Given the description of an element on the screen output the (x, y) to click on. 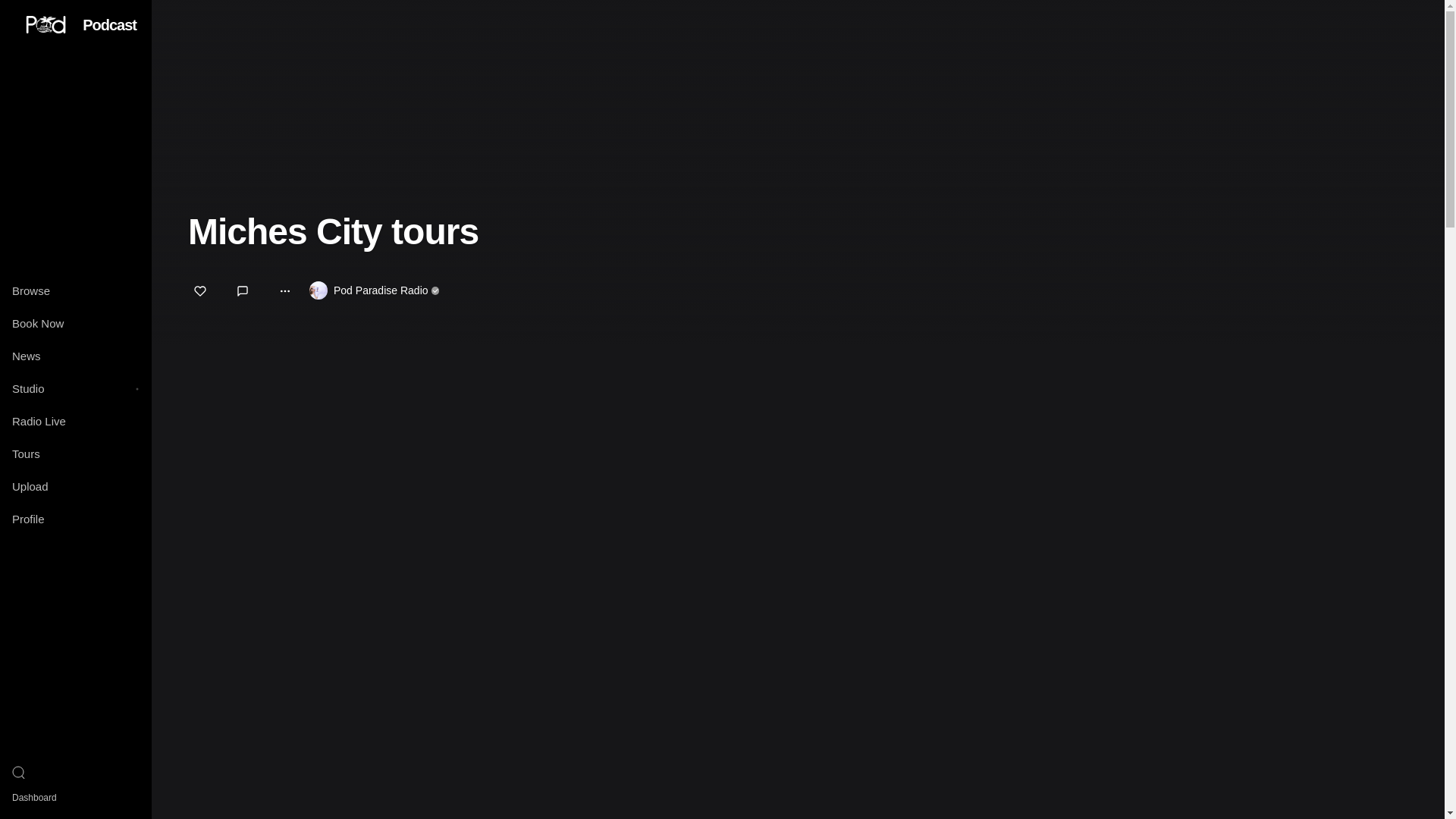
Profile (75, 518)
Verified (434, 290)
Radio Live (75, 420)
Studio (64, 388)
Pod Paradise Radio (380, 290)
Tours (75, 453)
Book Now (75, 323)
Podcast (109, 24)
Dashboard (75, 798)
